Given the description of an element on the screen output the (x, y) to click on. 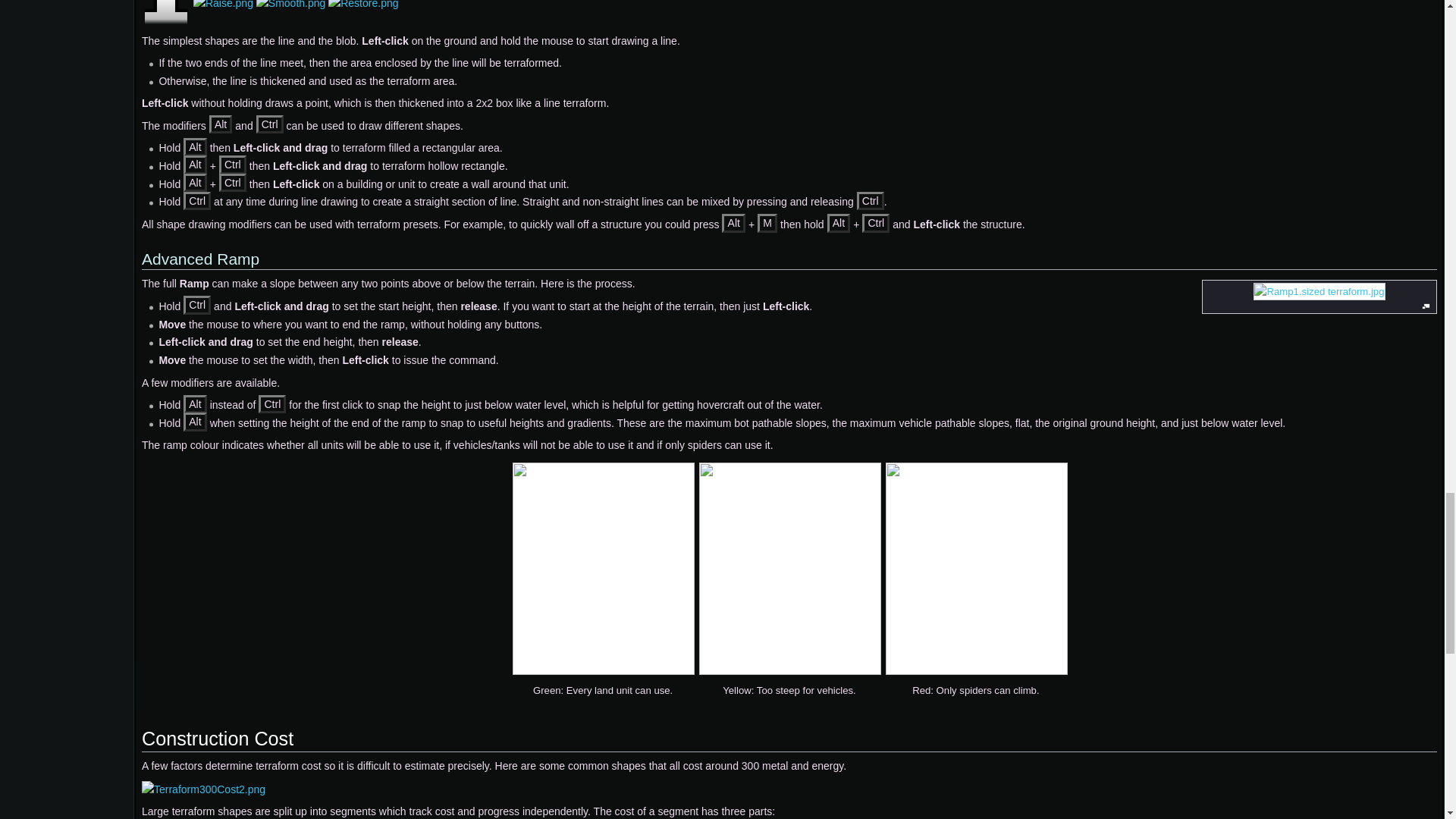
Enlarge (1426, 306)
